Given the description of an element on the screen output the (x, y) to click on. 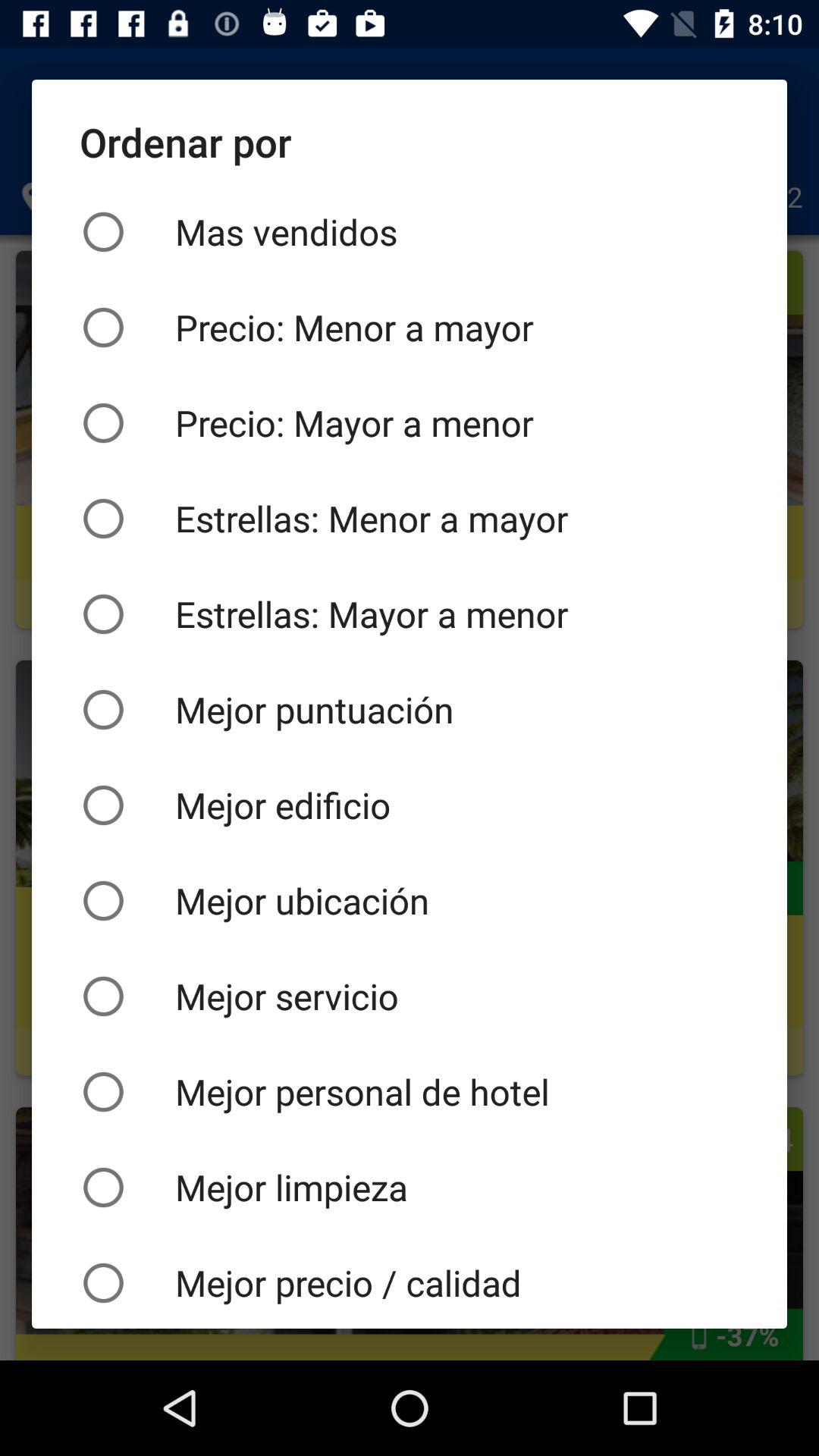
select the icon above mejor personal de (409, 996)
